Given the description of an element on the screen output the (x, y) to click on. 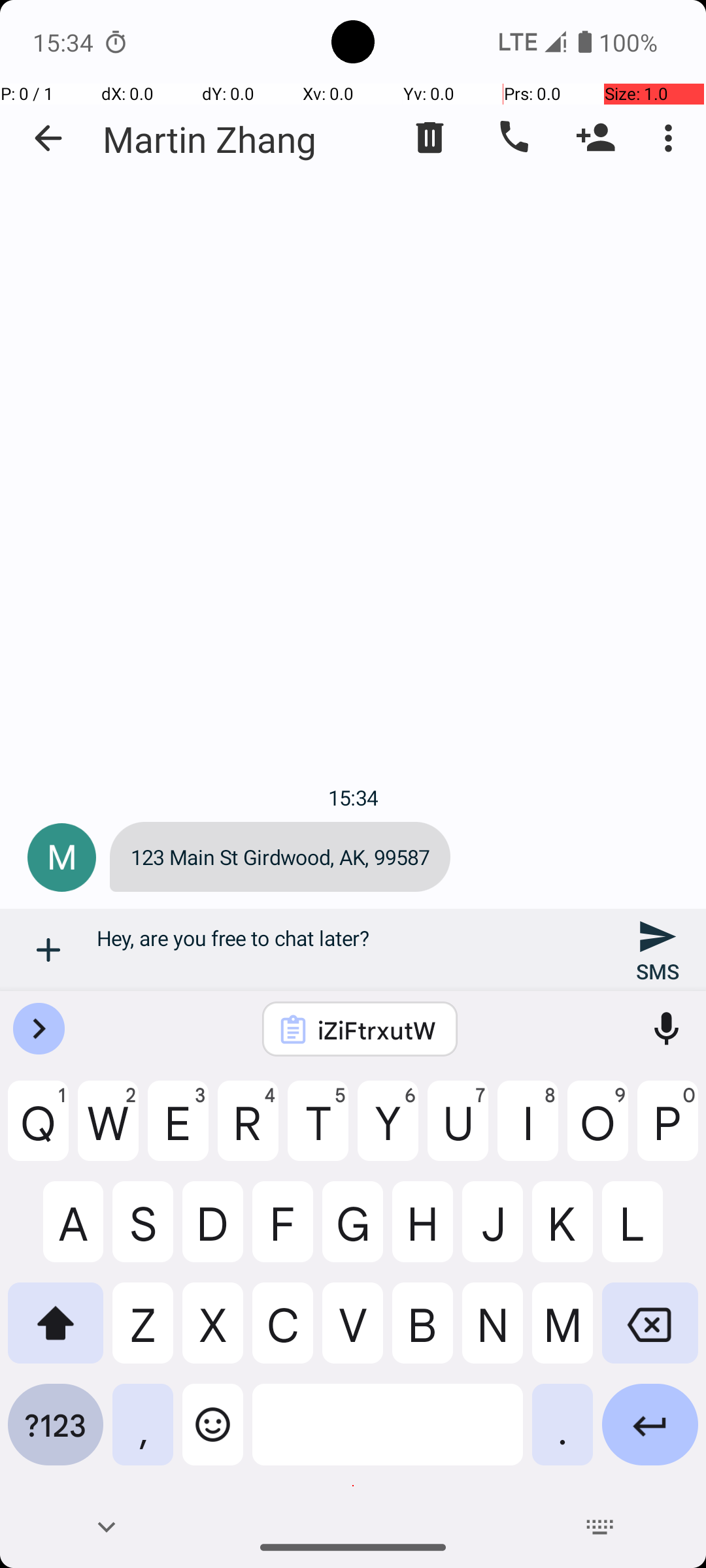
Martin Zhang Element type: android.widget.TextView (209, 138)
Hey, are you free to chat later?
 Element type: android.widget.EditText (352, 949)
123 Main St Girdwood, AK, 99587 Element type: android.widget.TextView (279, 856)
iZiFtrxutW Element type: android.widget.TextView (376, 1029)
